Given the description of an element on the screen output the (x, y) to click on. 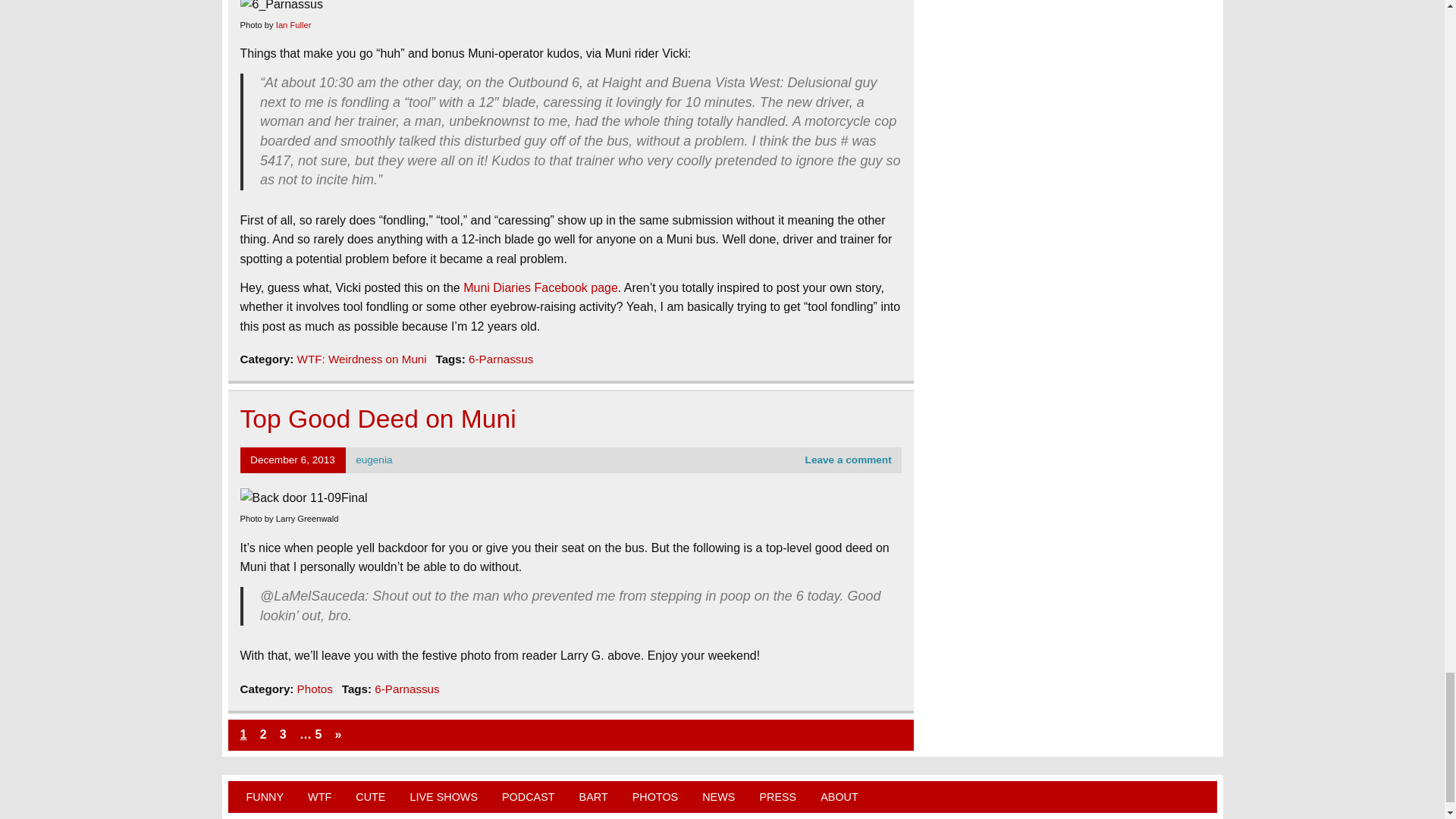
2:55 pm (292, 460)
View all posts by eugenia (373, 460)
